Given the description of an element on the screen output the (x, y) to click on. 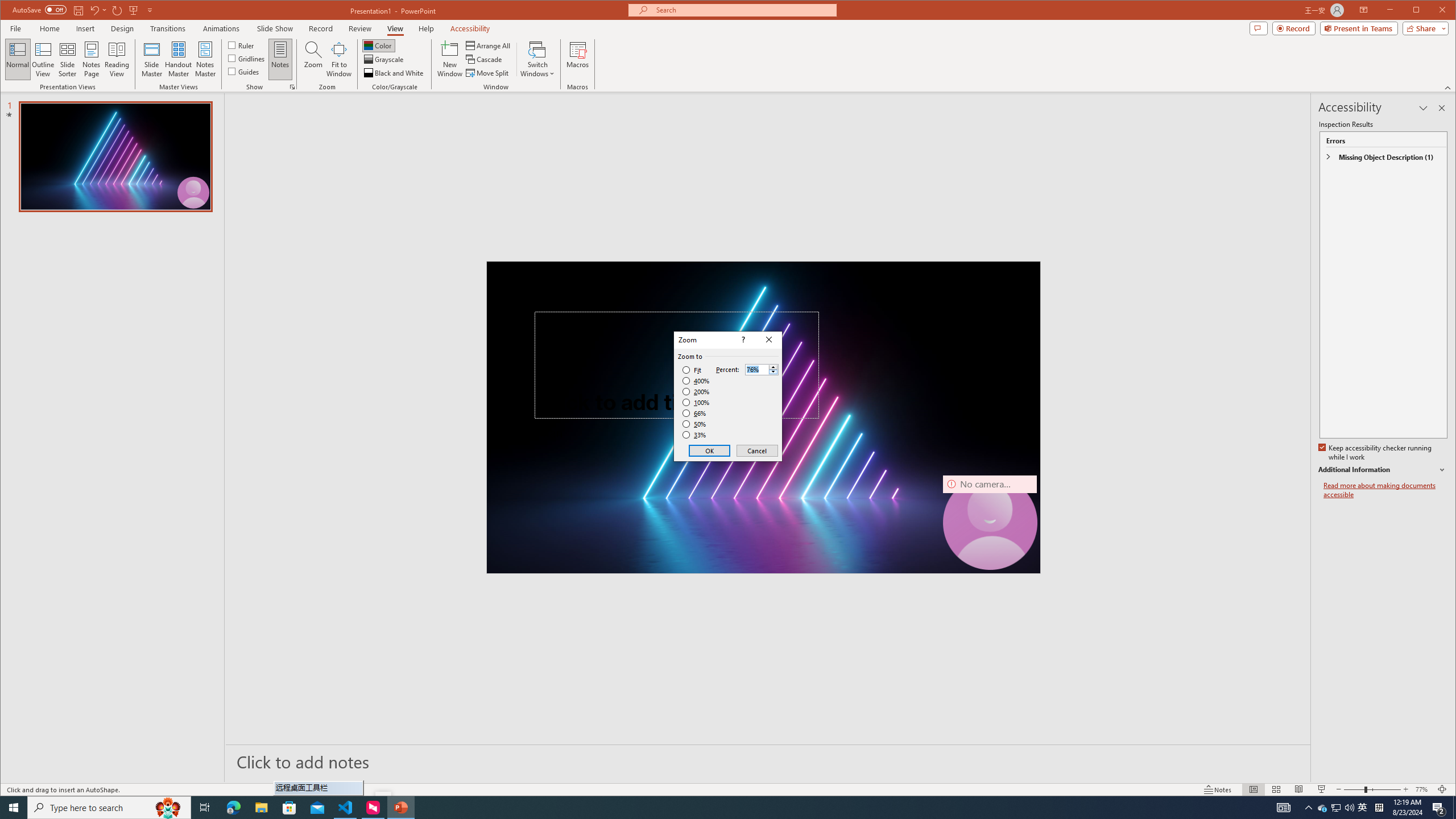
200% (696, 391)
Slide Master (151, 59)
Fit (691, 370)
50% (694, 424)
